Given the description of an element on the screen output the (x, y) to click on. 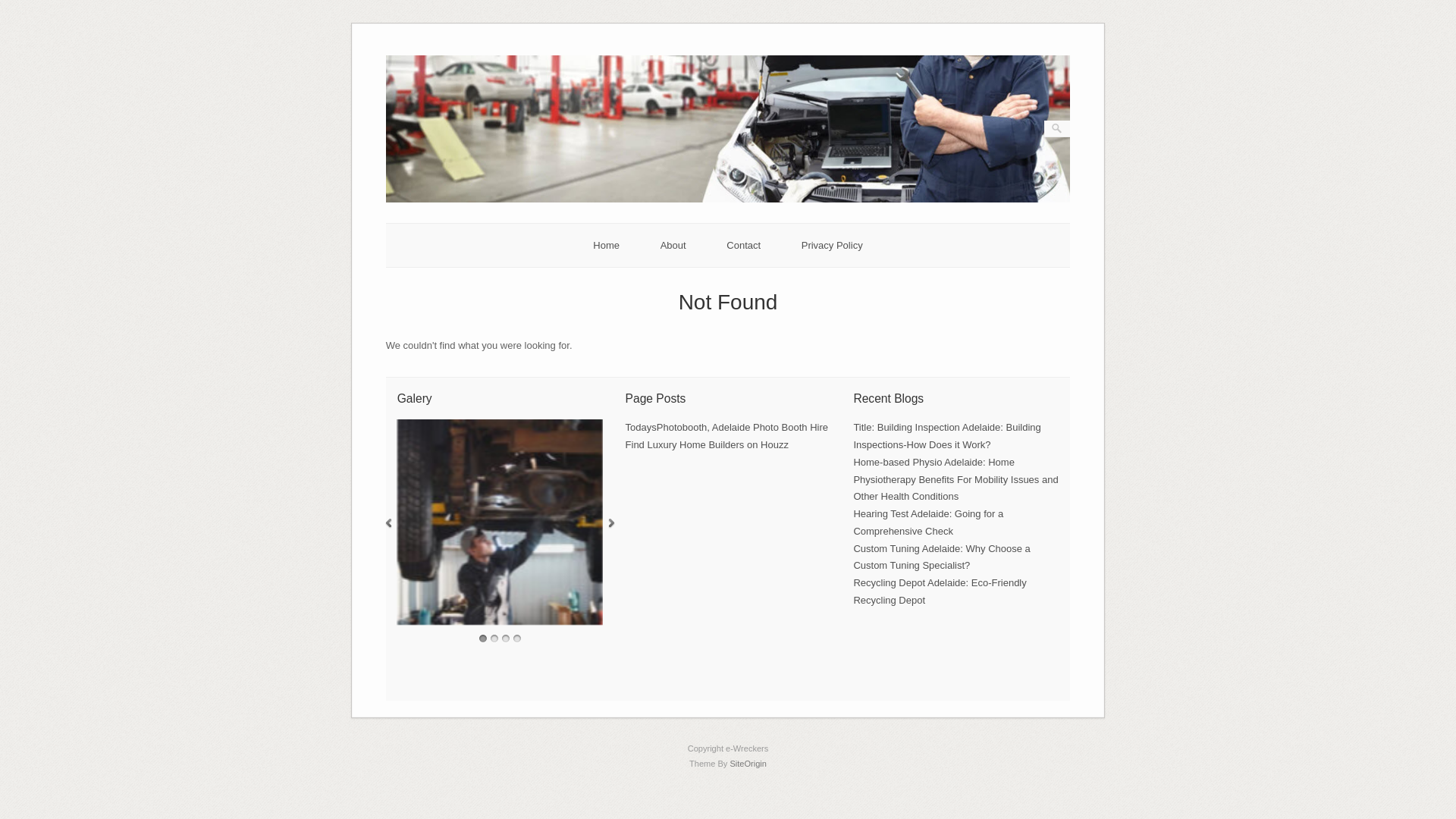
Hearing Test Adelaide: Going for a Comprehensive Check Element type: text (928, 522)
3 Element type: text (505, 638)
SiteOrigin Element type: text (747, 763)
Find Luxury Home Builders on Houzz Element type: text (706, 444)
4 Element type: text (516, 638)
Contact Element type: text (743, 245)
Next Element type: text (611, 523)
Privacy Policy Element type: text (831, 245)
TodaysPhotobooth, Adelaide Photo Booth Hire Element type: text (726, 427)
Search Element type: text (21, 7)
Skip to content Element type: text (385, 39)
About Element type: text (673, 245)
Previous Element type: text (388, 523)
1 Element type: text (482, 638)
2 Element type: text (494, 638)
Home Element type: text (606, 245)
Recycling Depot Adelaide: Eco-Friendly Recycling Depot Element type: text (939, 591)
